Given the description of an element on the screen output the (x, y) to click on. 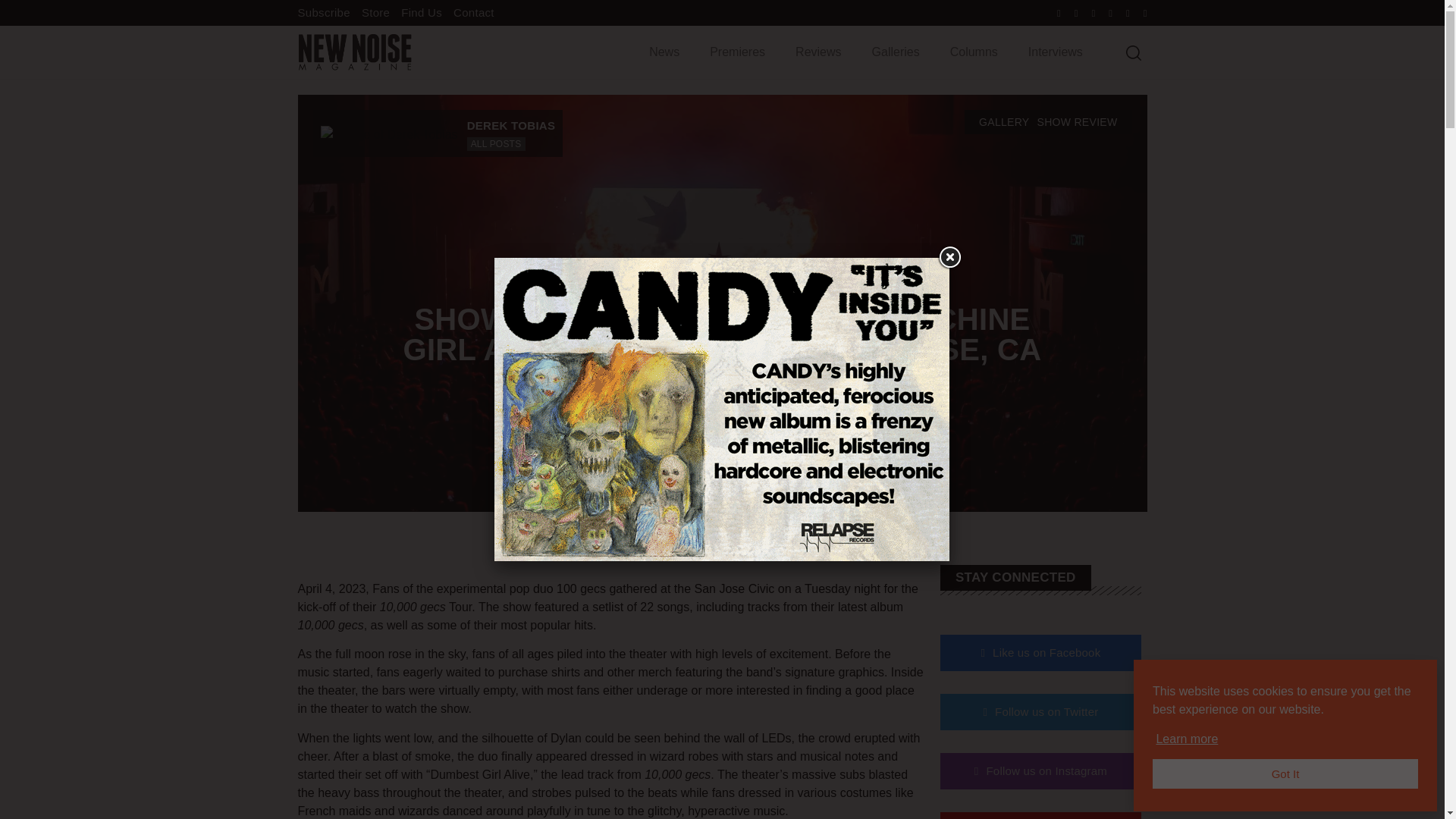
Interviews (1055, 52)
Store (375, 12)
Columns (973, 52)
Contact (473, 12)
Subscribe (323, 12)
Galleries (895, 52)
News (663, 52)
Reviews (818, 52)
Premieres (737, 52)
Find Us (421, 12)
